Given the description of an element on the screen output the (x, y) to click on. 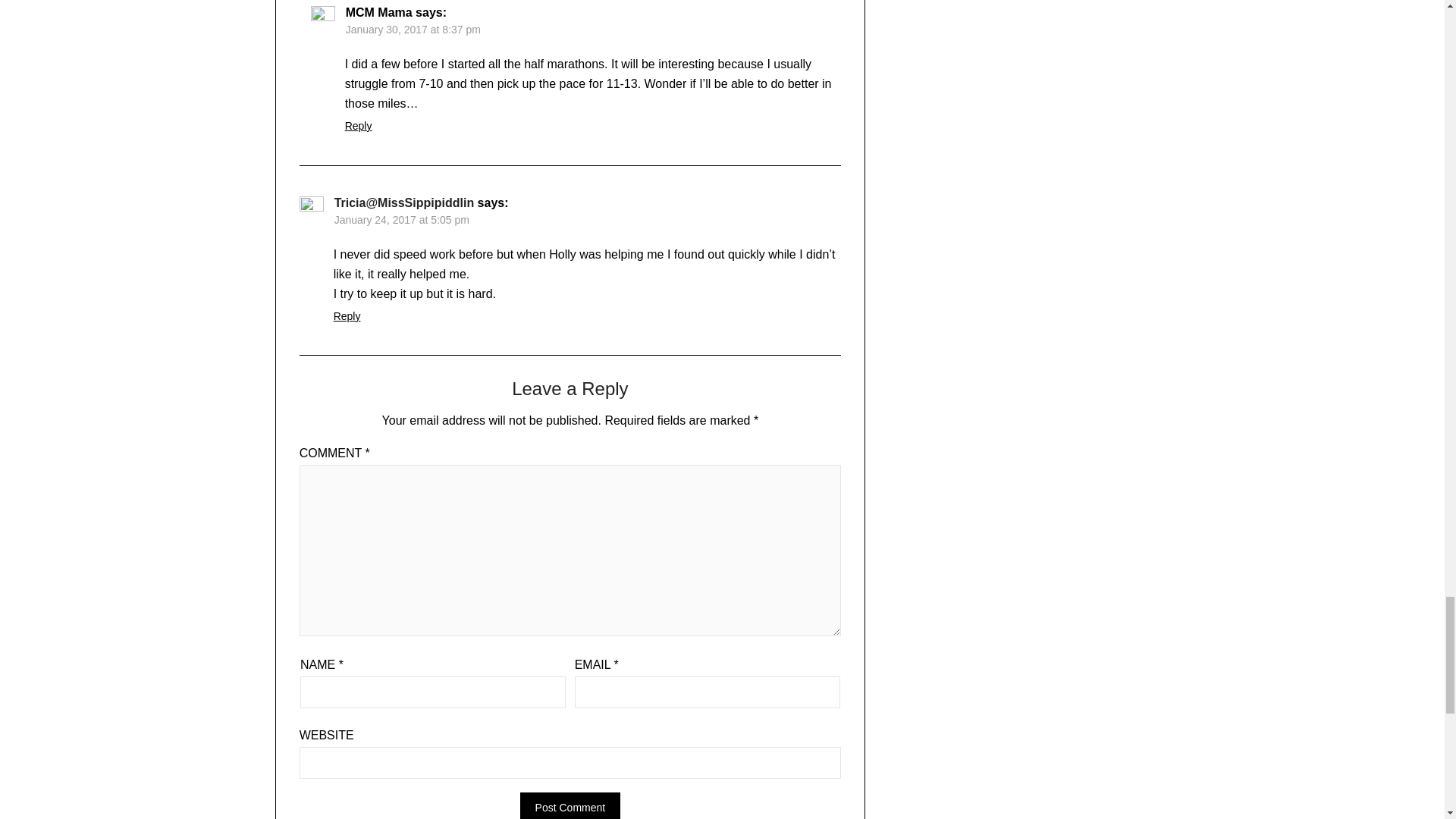
Post Comment (570, 805)
